Given the description of an element on the screen output the (x, y) to click on. 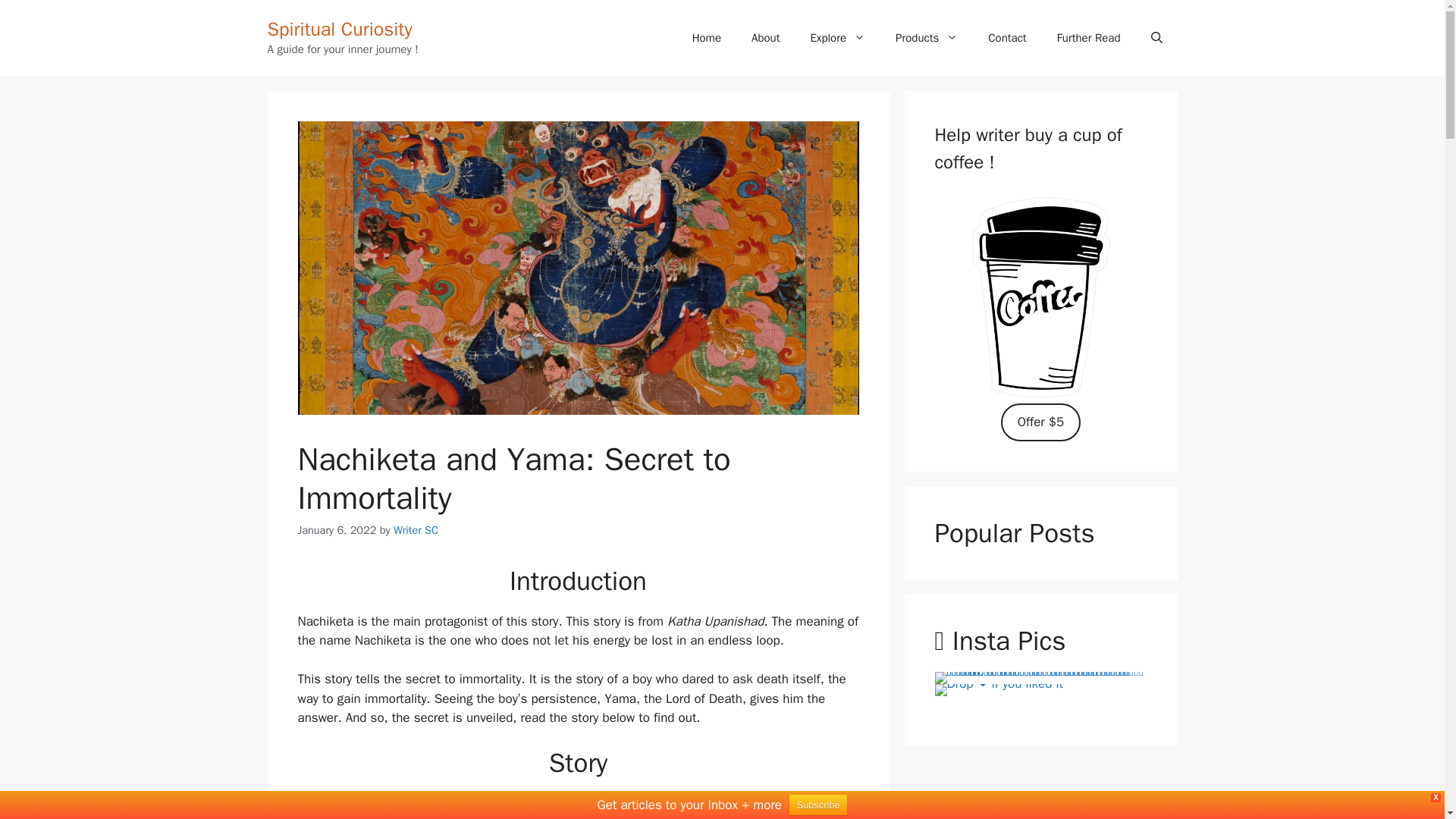
Explore (837, 37)
Spiritual Curiosity (339, 28)
About (765, 37)
Writer SC (415, 530)
Further Read (1088, 37)
View all posts by Writer SC (415, 530)
Contact (1006, 37)
Products (926, 37)
Home (706, 37)
